Given the description of an element on the screen output the (x, y) to click on. 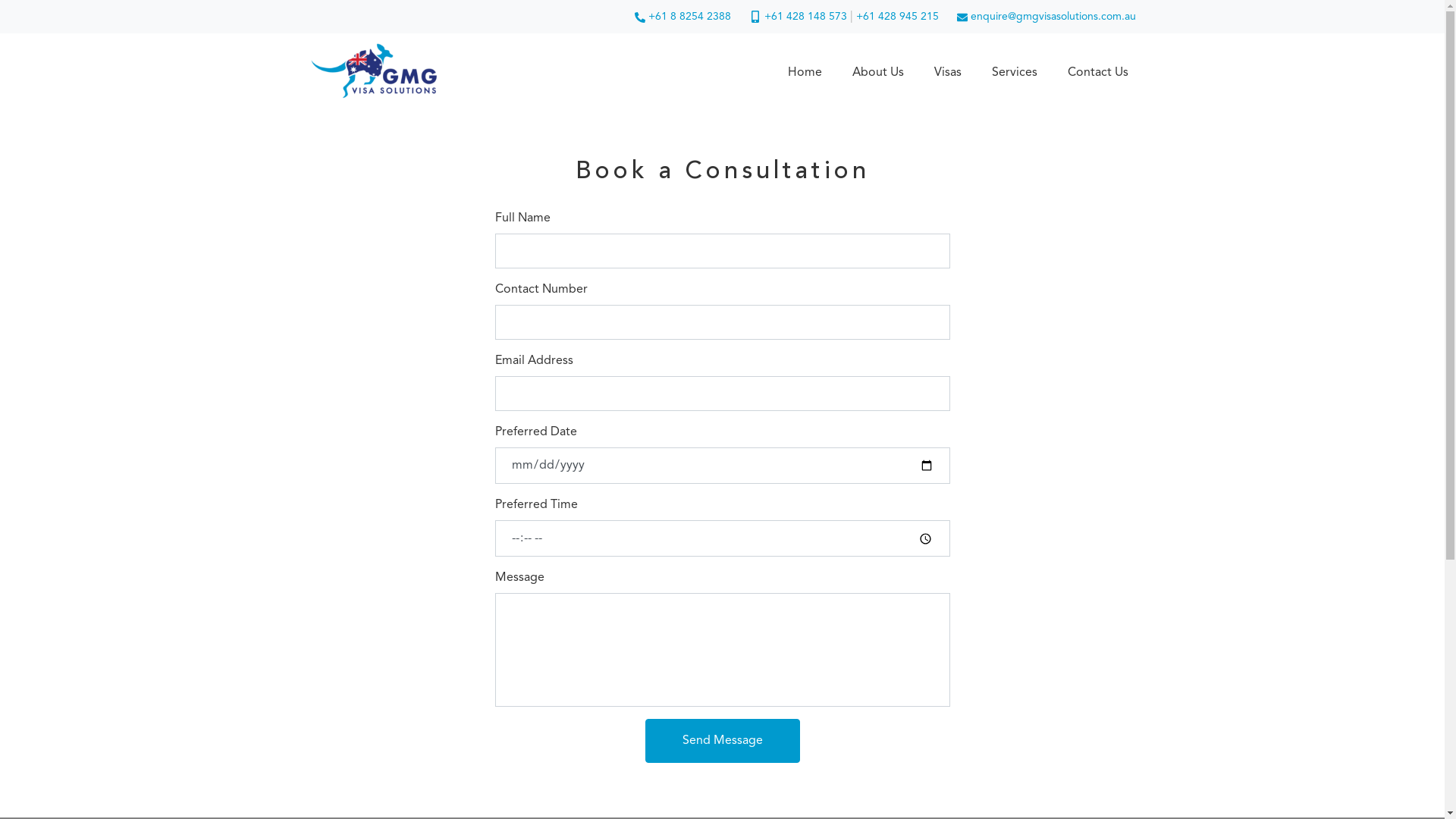
About Us Element type: text (878, 72)
+61 428 945 215 Element type: text (898, 16)
+61 8 8254 2388 Element type: text (683, 16)
Contact Us Element type: text (1097, 72)
Home Element type: text (803, 72)
+61 428 148 573 Element type: text (807, 16)
Send Message Element type: text (721, 740)
Services Element type: text (1014, 72)
Visas Element type: text (947, 72)
enquire@gmgvisasolutions.com.au Element type: text (1046, 16)
